Given the description of an element on the screen output the (x, y) to click on. 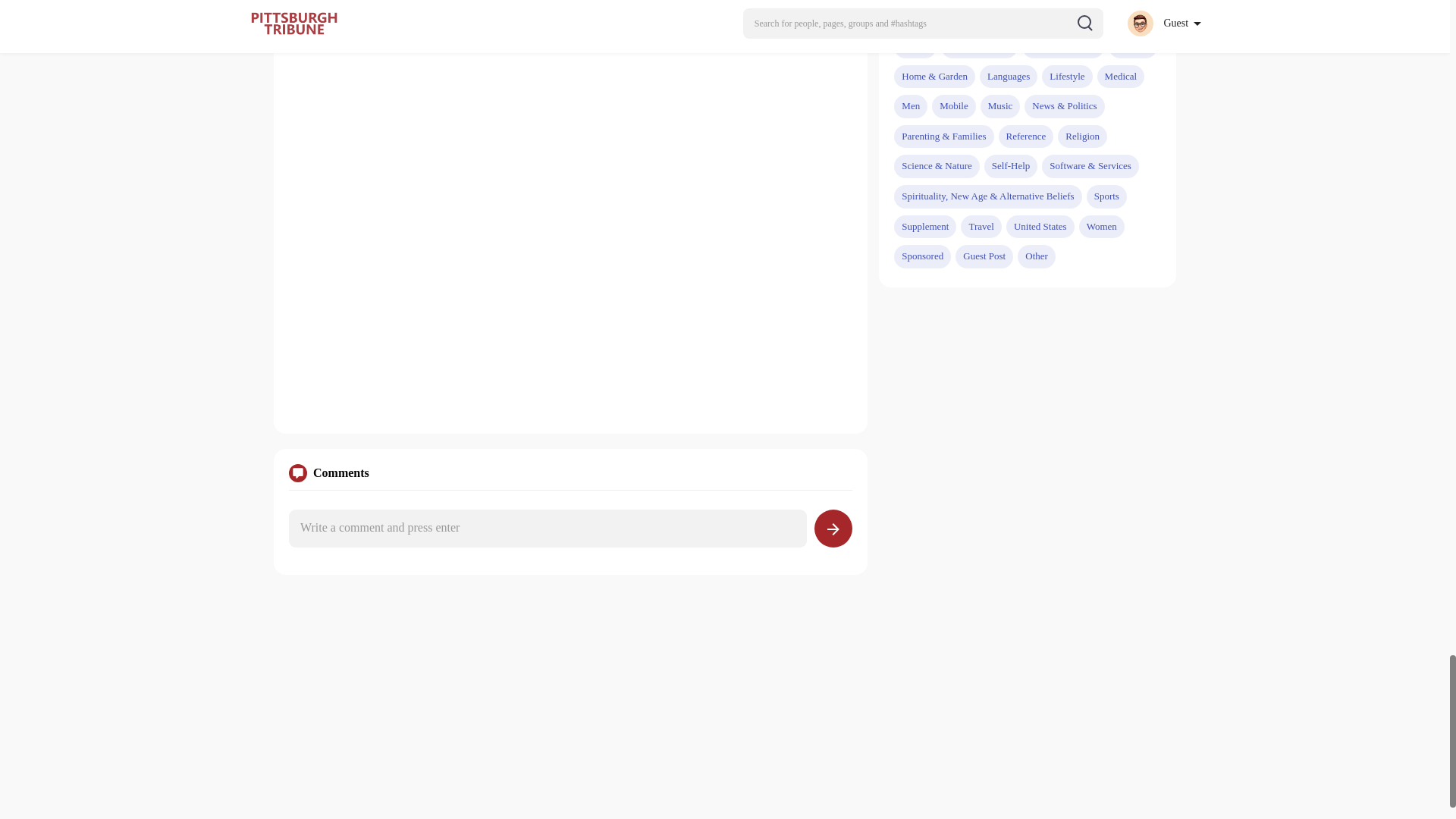
Post (832, 528)
